Given the description of an element on the screen output the (x, y) to click on. 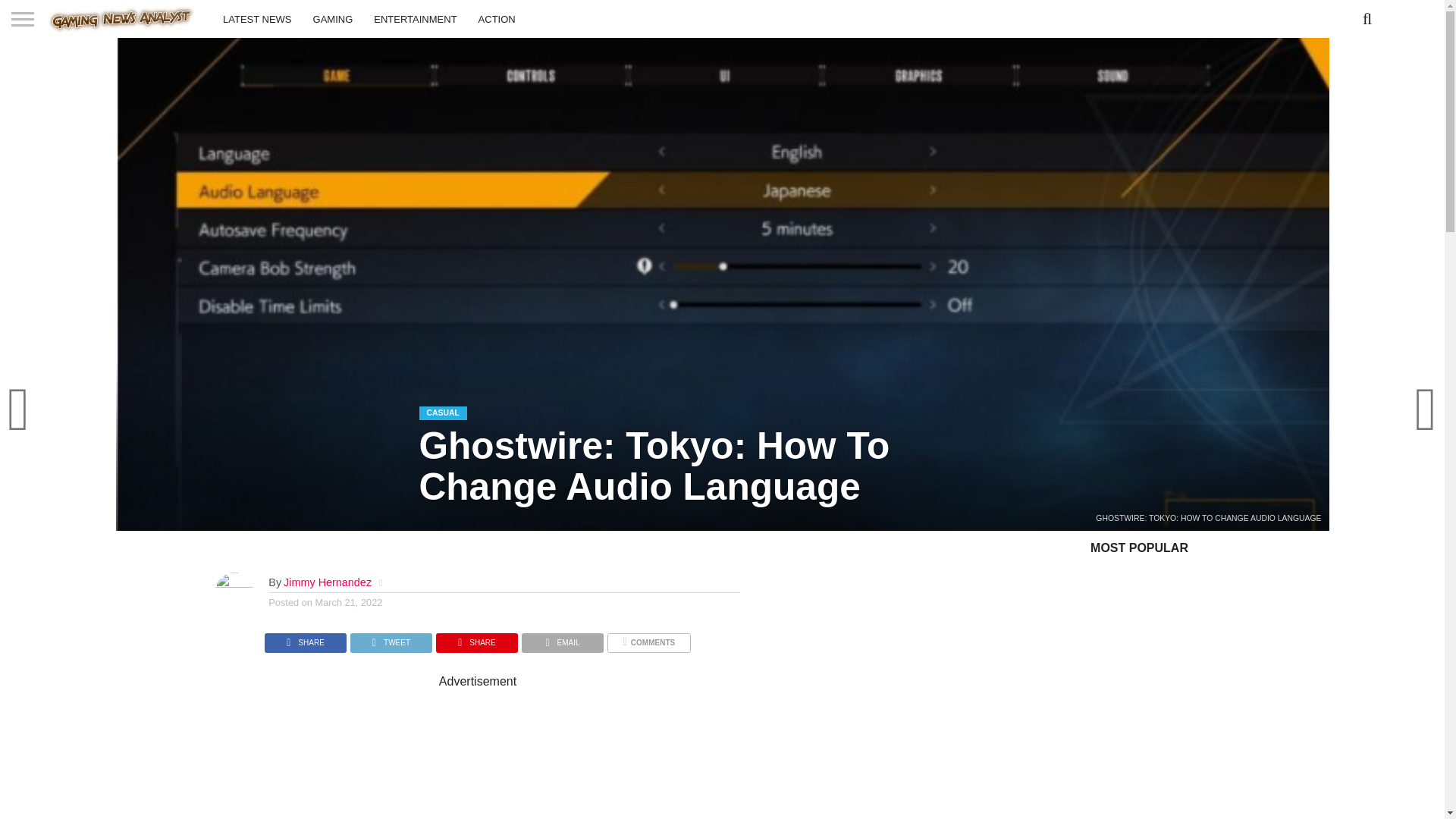
ACTION (496, 18)
LATEST NEWS (257, 18)
Jimmy Hernandez (327, 582)
CASUAL (442, 410)
Advertisement (602, 753)
ENTERTAINMENT (414, 18)
Share on Facebook (305, 638)
SHARE (476, 638)
Pin This Post (476, 638)
